Given the description of an element on the screen output the (x, y) to click on. 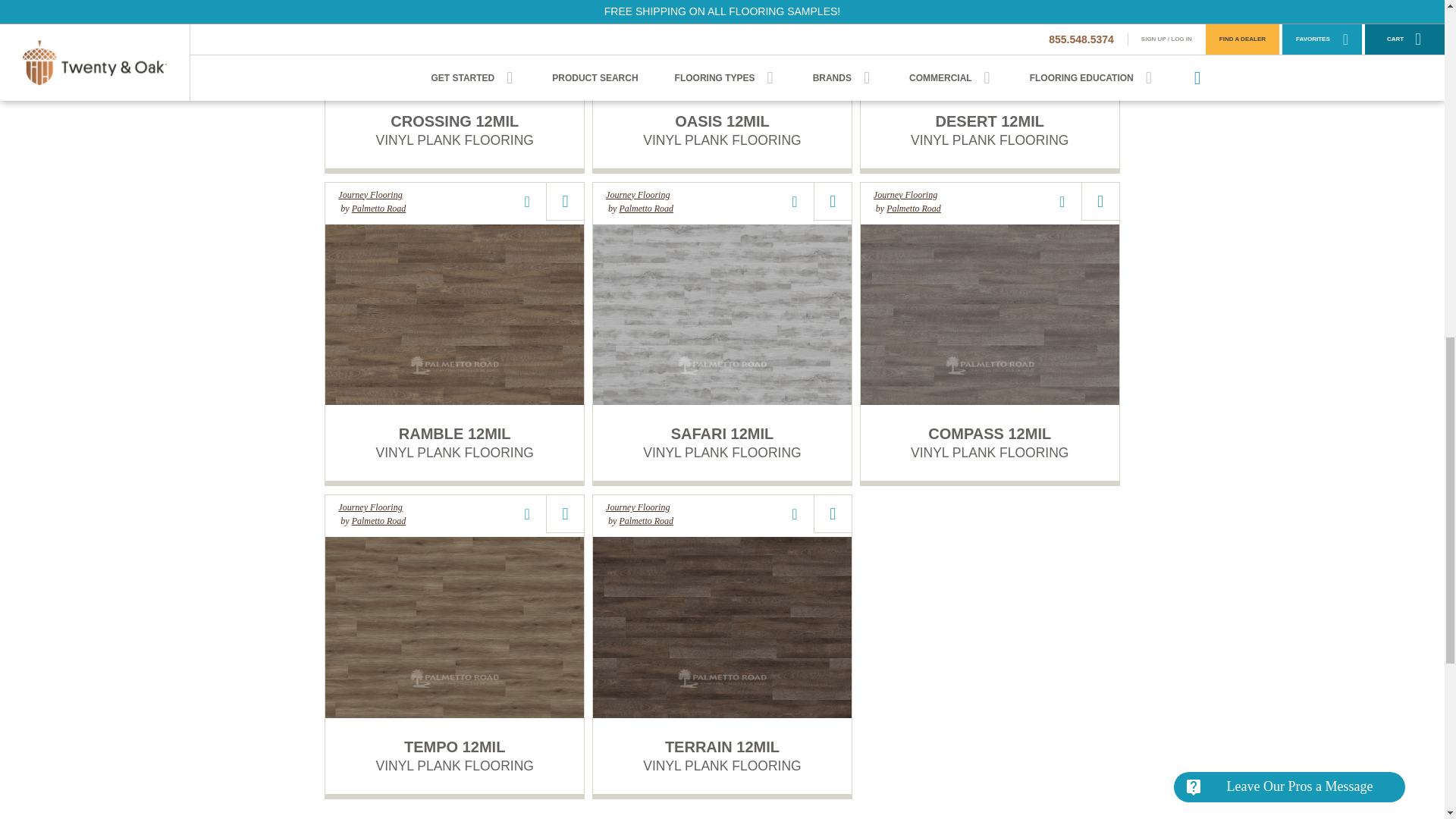
Add to Cart (1100, 200)
Add to Cart (832, 200)
Add to cart (832, 200)
Add to cart (565, 200)
Add to Cart (565, 200)
Add to cart (832, 513)
Add to cart (1100, 200)
Add to cart (565, 513)
Add to Cart (565, 513)
